Given the description of an element on the screen output the (x, y) to click on. 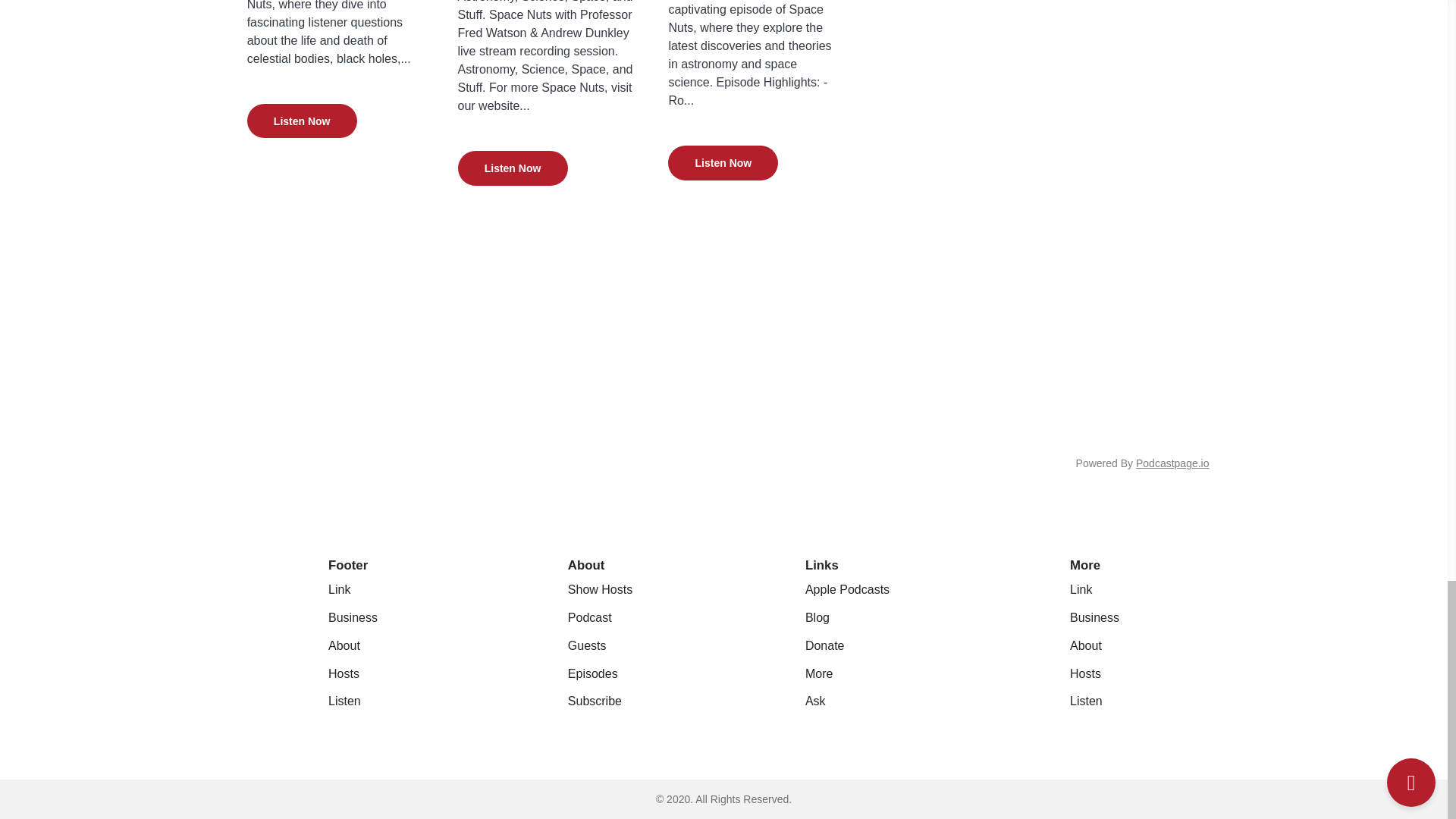
Listen Now (512, 166)
Listen Now (301, 119)
Listen Now (722, 162)
Listen Now (722, 161)
Listen Now (512, 167)
Listen Now (301, 121)
